Given the description of an element on the screen output the (x, y) to click on. 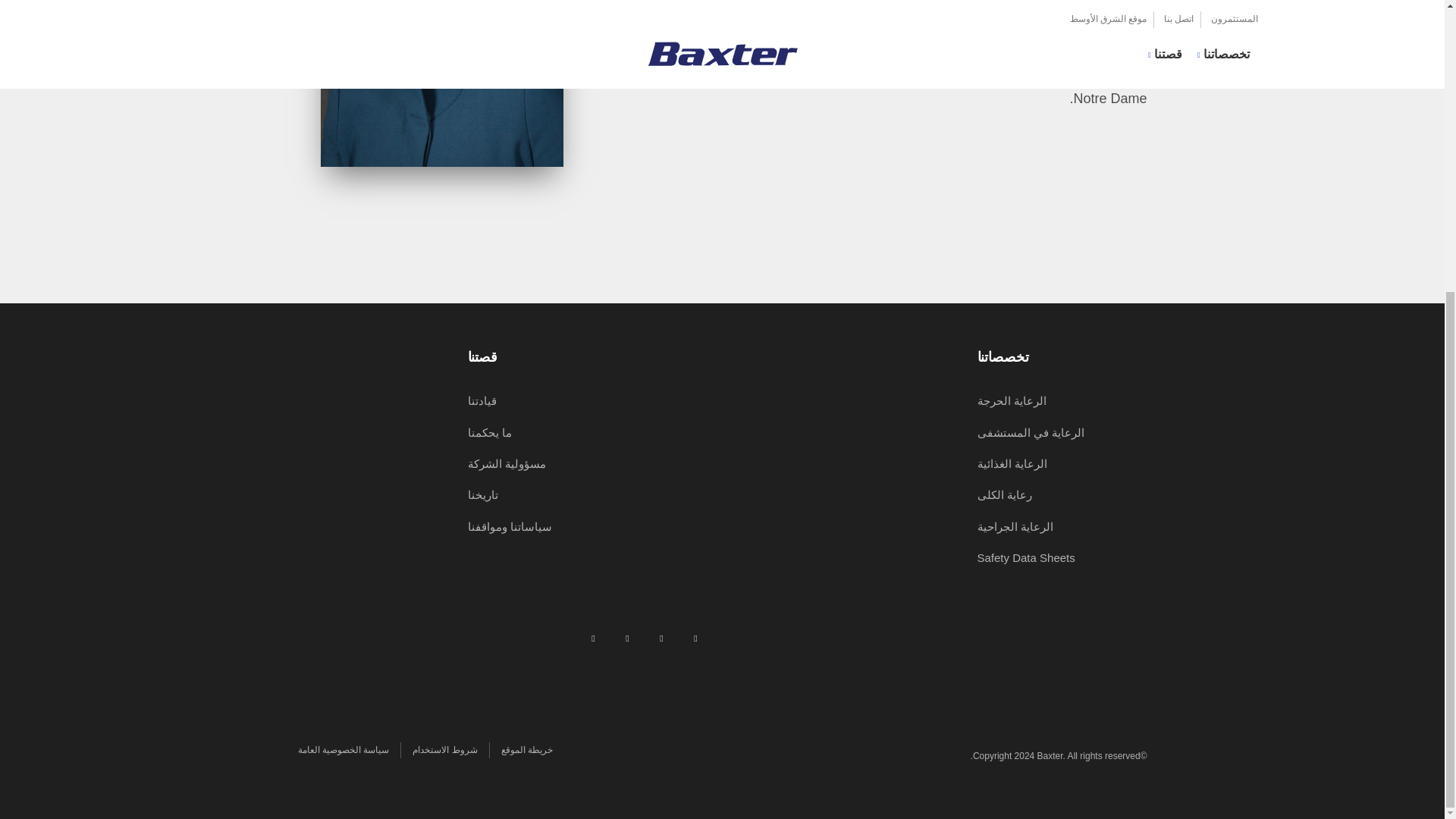
Safety Data Sheets (1025, 557)
